Given the description of an element on the screen output the (x, y) to click on. 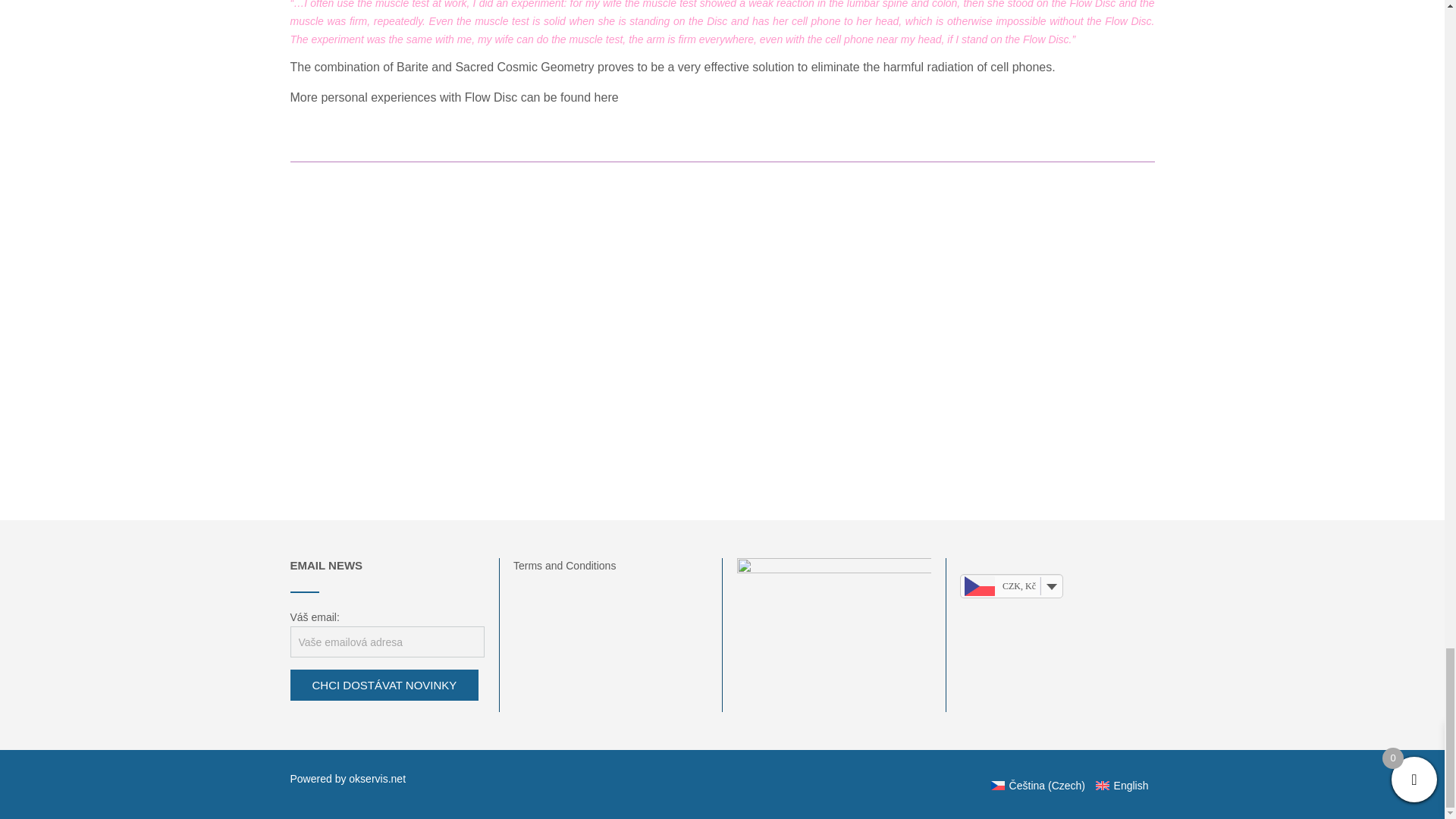
Terms and Conditions (564, 565)
can be found here (569, 97)
okservis.net (377, 778)
English (1119, 785)
